Given the description of an element on the screen output the (x, y) to click on. 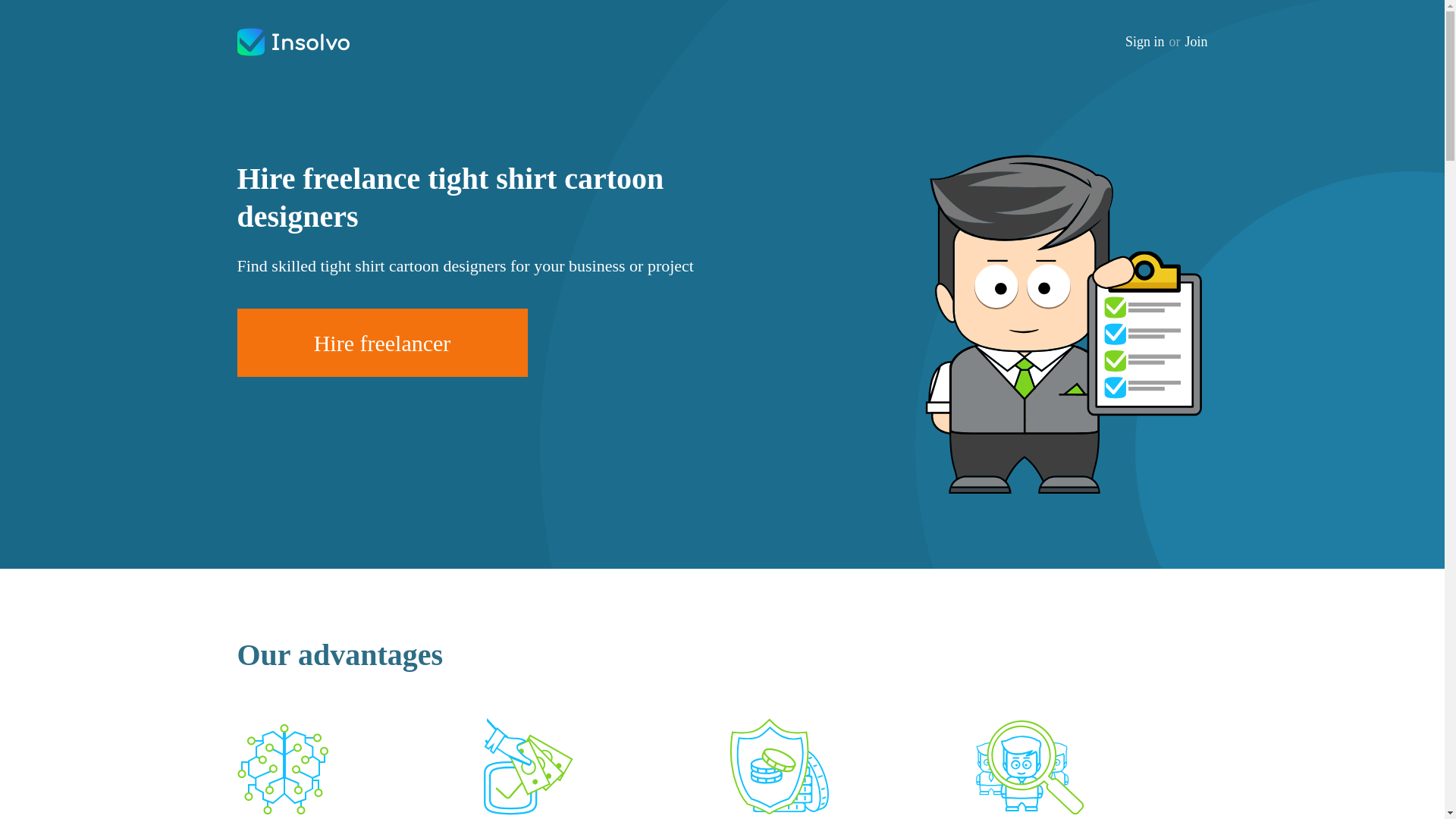
Sign in (1144, 42)
Hire freelancer (381, 342)
Join (1196, 42)
